Given the description of an element on the screen output the (x, y) to click on. 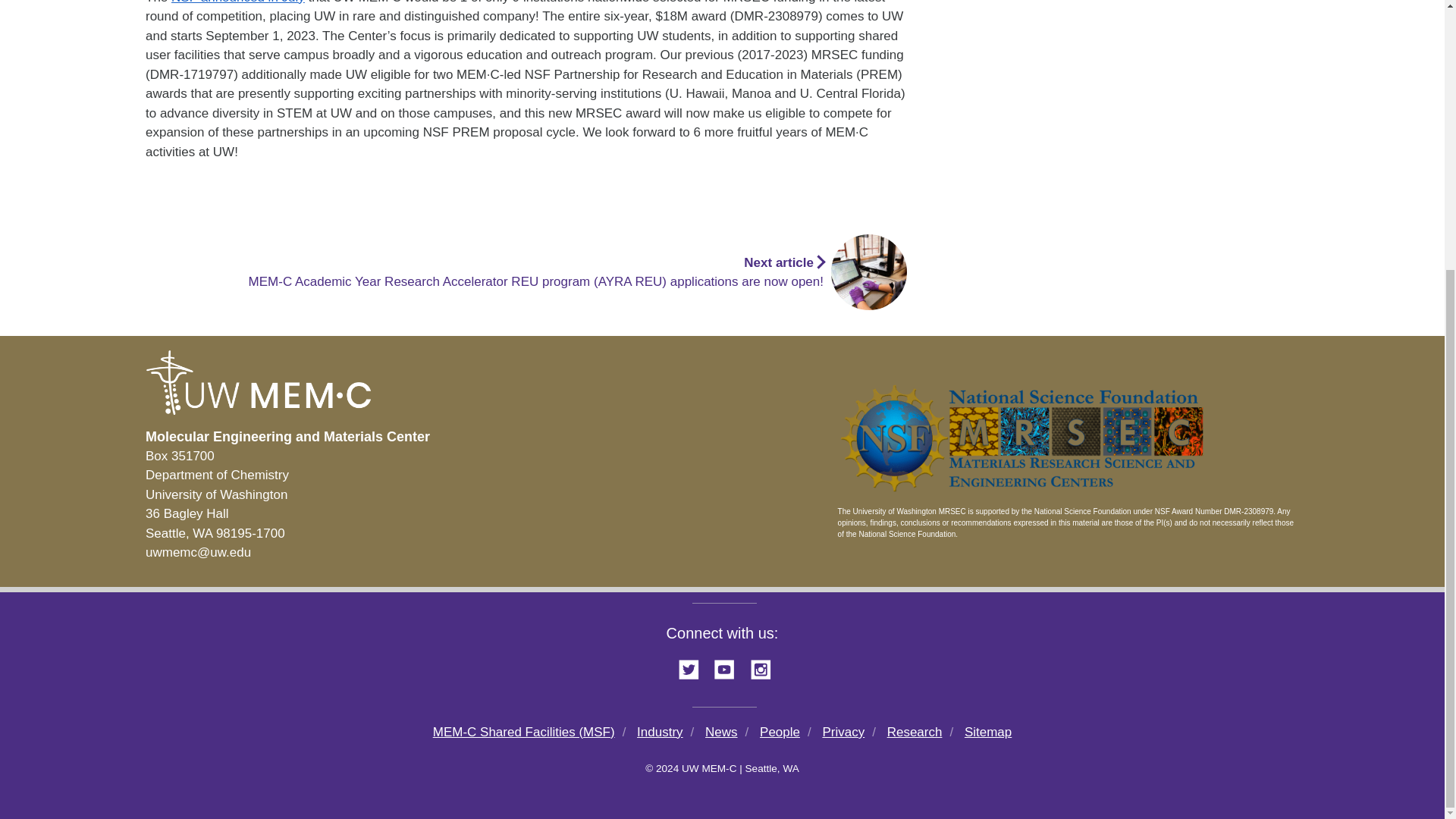
Instagram (765, 667)
NSF announced in July (237, 2)
YouTube (729, 667)
Twitter (694, 667)
